Given the description of an element on the screen output the (x, y) to click on. 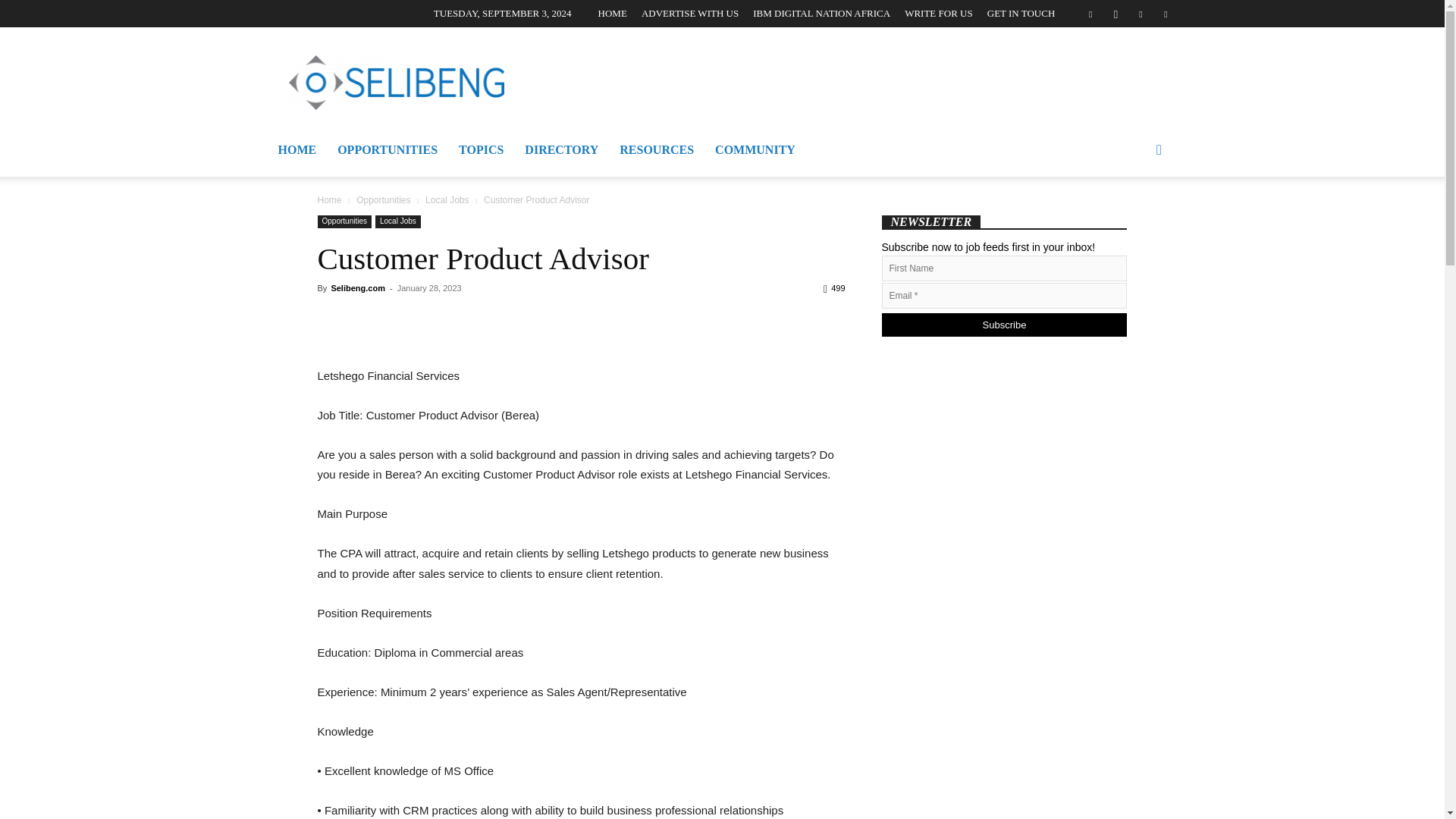
View all posts in Local Jobs (446, 199)
Subscribe (1003, 324)
View all posts in Opportunities (383, 199)
